Given the description of an element on the screen output the (x, y) to click on. 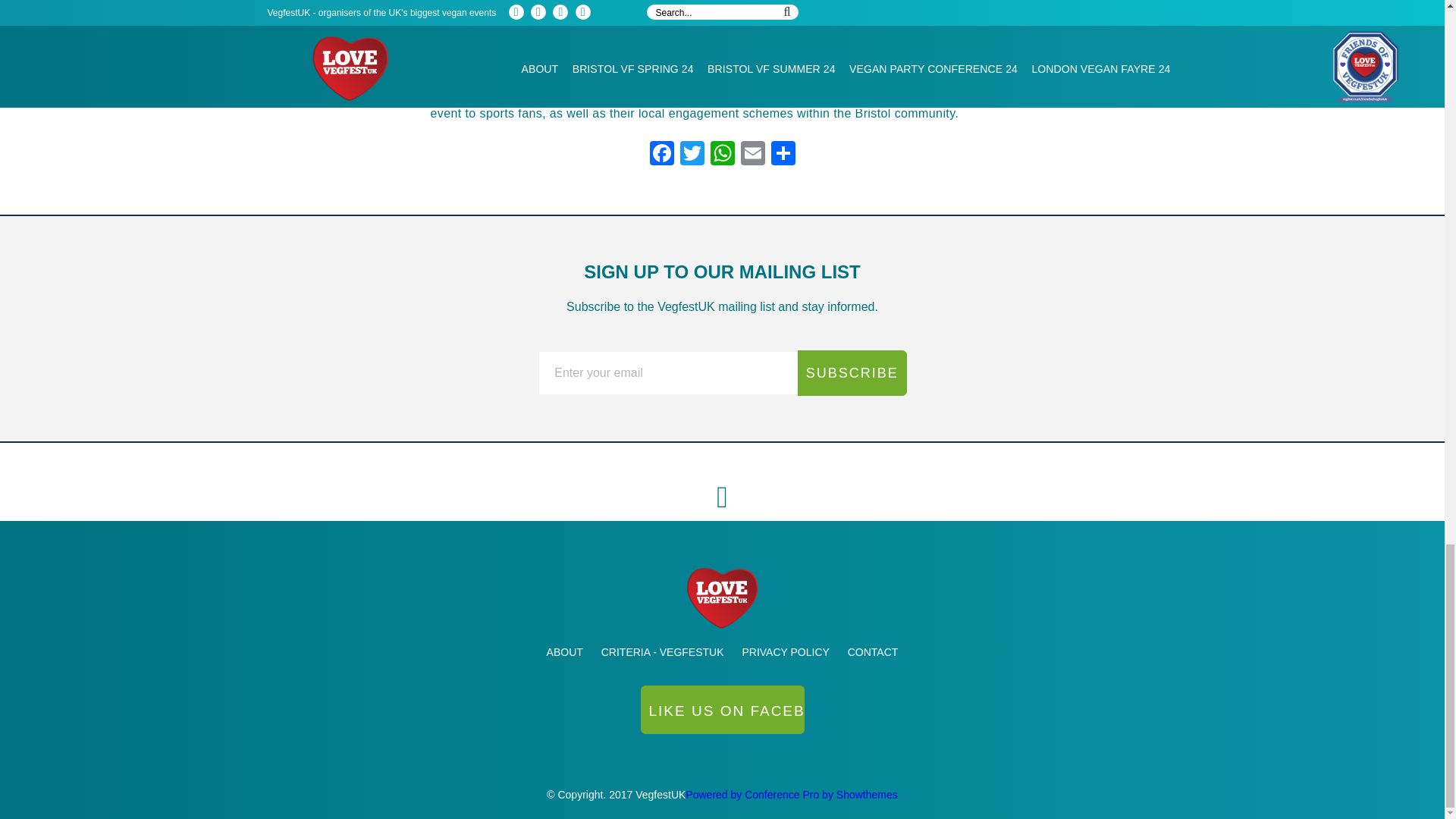
Email (751, 154)
Facebook (661, 154)
Yaoh (721, 713)
WhatsApp (721, 154)
Twitter (691, 154)
